Given the description of an element on the screen output the (x, y) to click on. 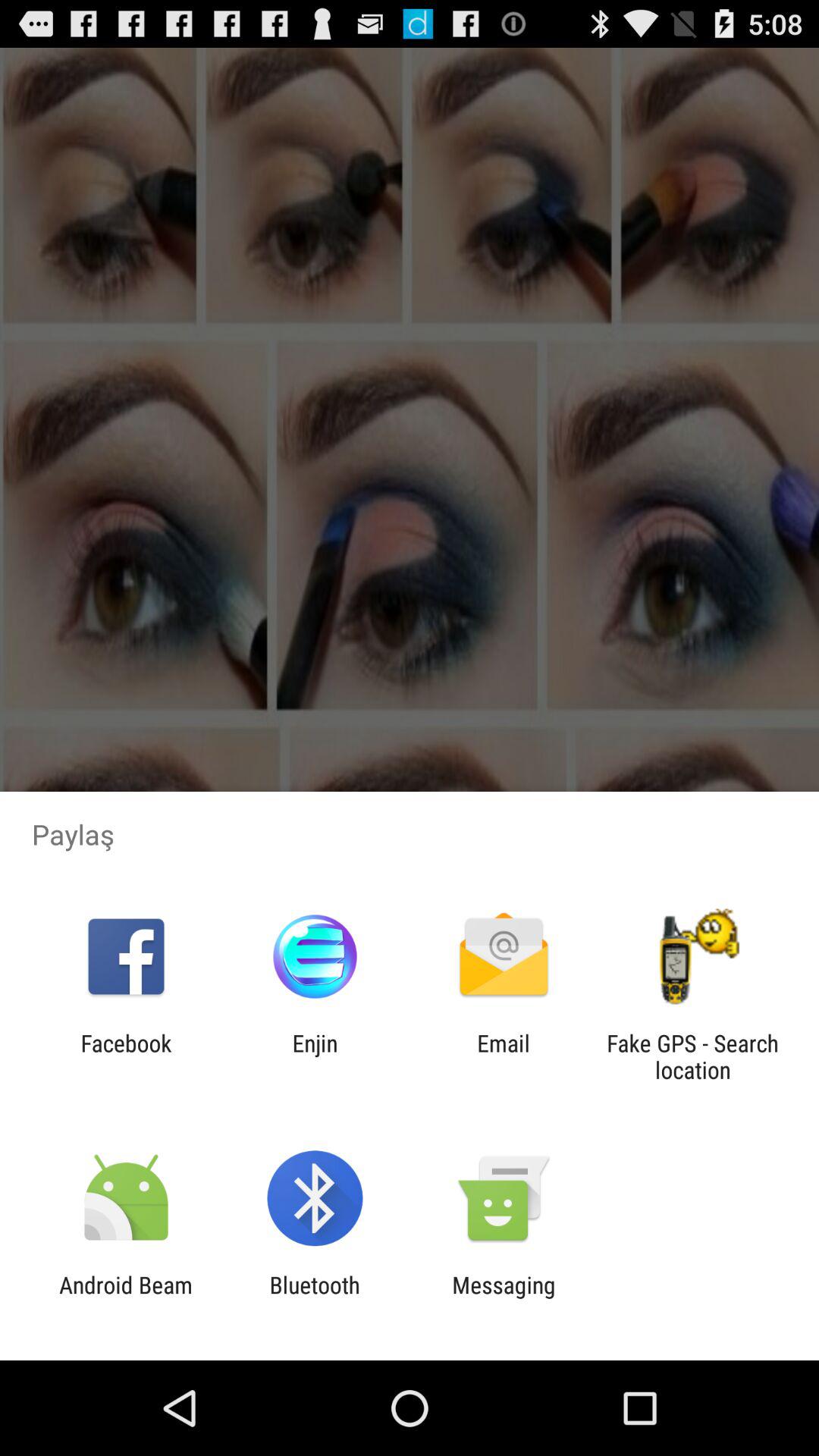
press android beam icon (125, 1298)
